Given the description of an element on the screen output the (x, y) to click on. 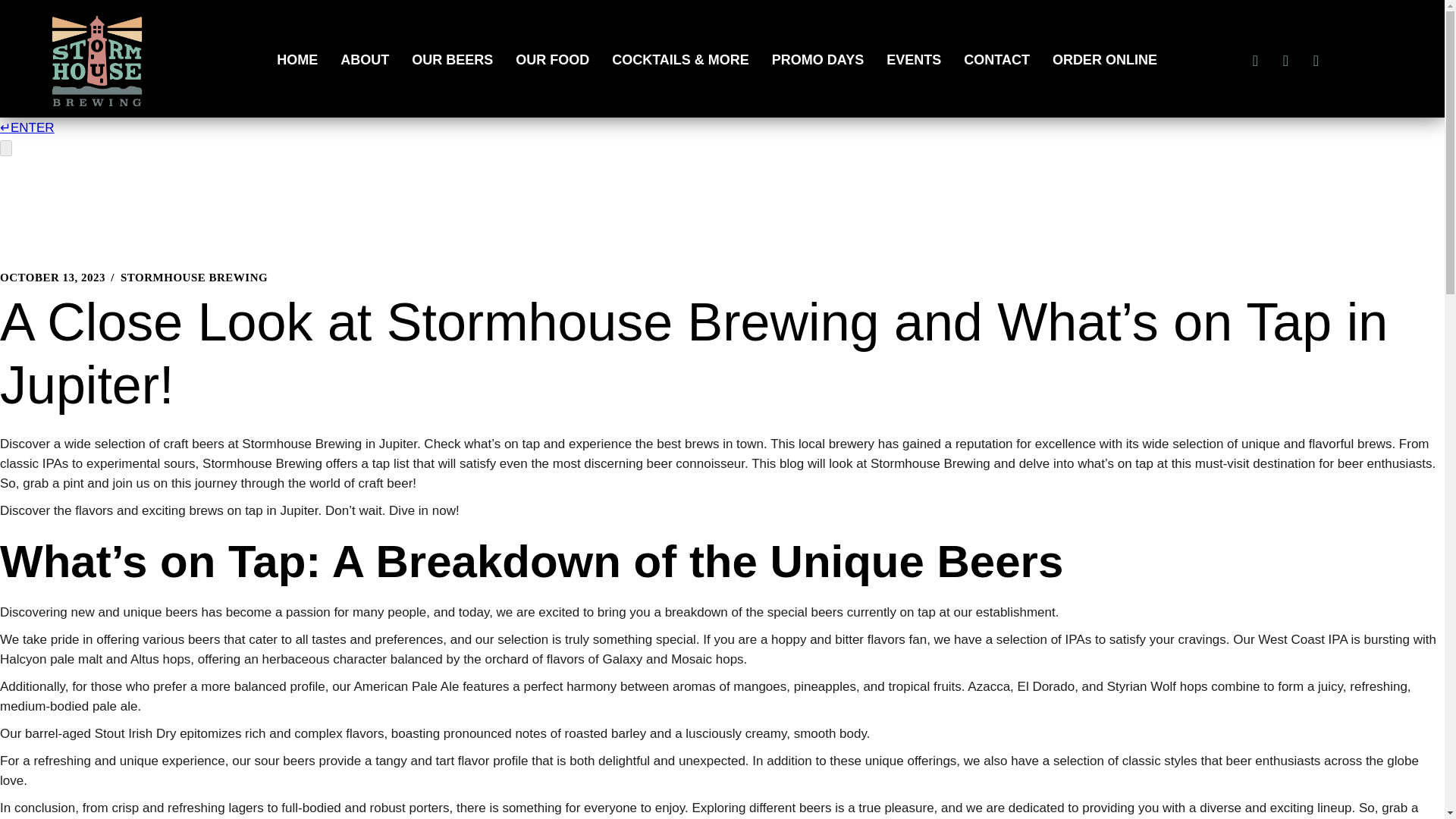
OUR FOOD (551, 59)
CONTACT (996, 59)
ORDER ONLINE (1105, 59)
EVENTS (913, 59)
HOME (296, 59)
PROMO DAYS (817, 59)
OUR BEERS (451, 59)
ABOUT (364, 59)
